Given the description of an element on the screen output the (x, y) to click on. 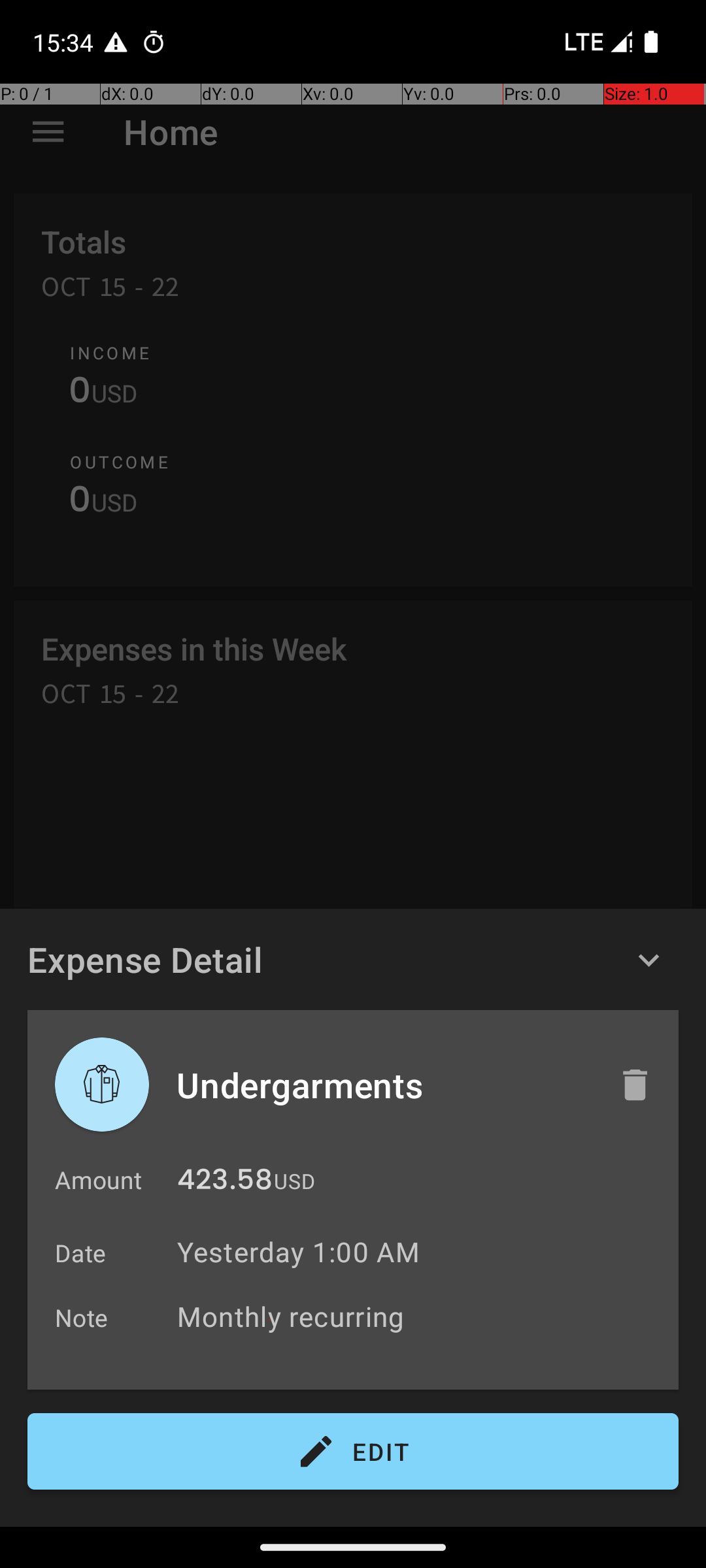
Undergarments Element type: android.widget.TextView (383, 1084)
423.58 Element type: android.widget.TextView (224, 1182)
Yesterday 1:00 AM Element type: android.widget.TextView (298, 1251)
Monthly recurring Element type: android.widget.TextView (420, 1315)
